Given the description of an element on the screen output the (x, y) to click on. 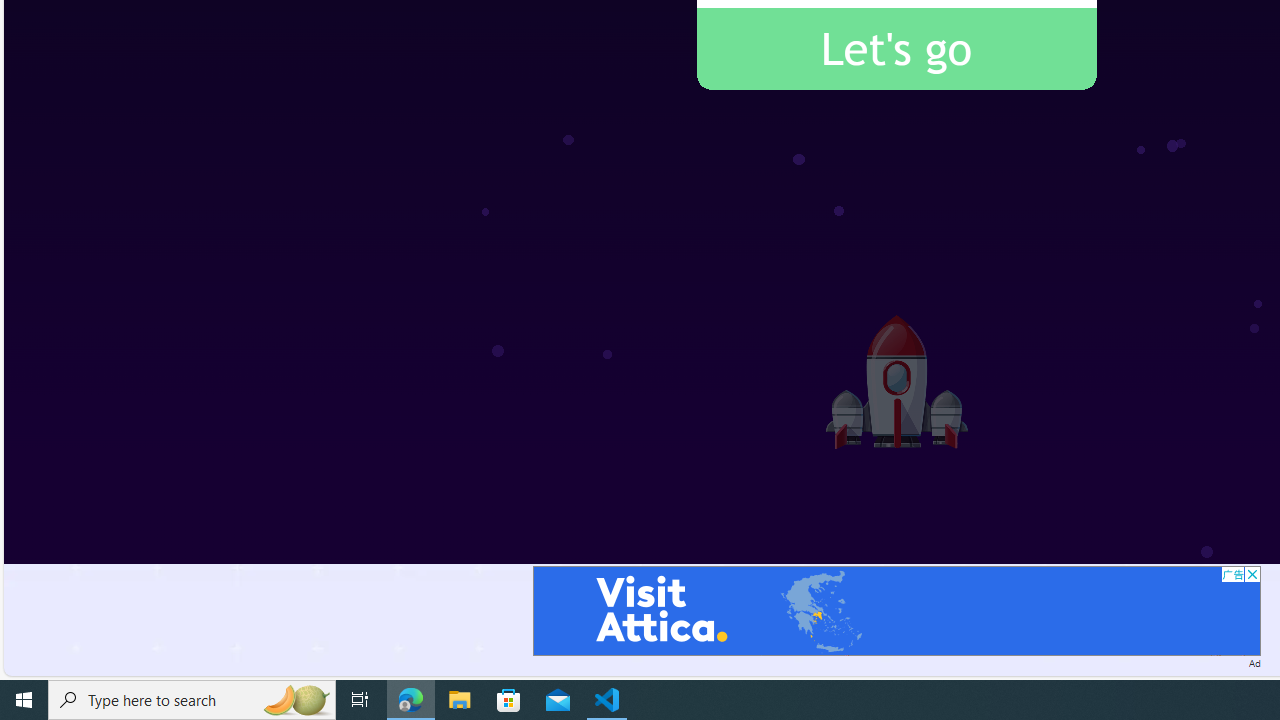
AutomationID: cbb (1252, 574)
Advertisement (896, 610)
Advertisement (896, 610)
